Given the description of an element on the screen output the (x, y) to click on. 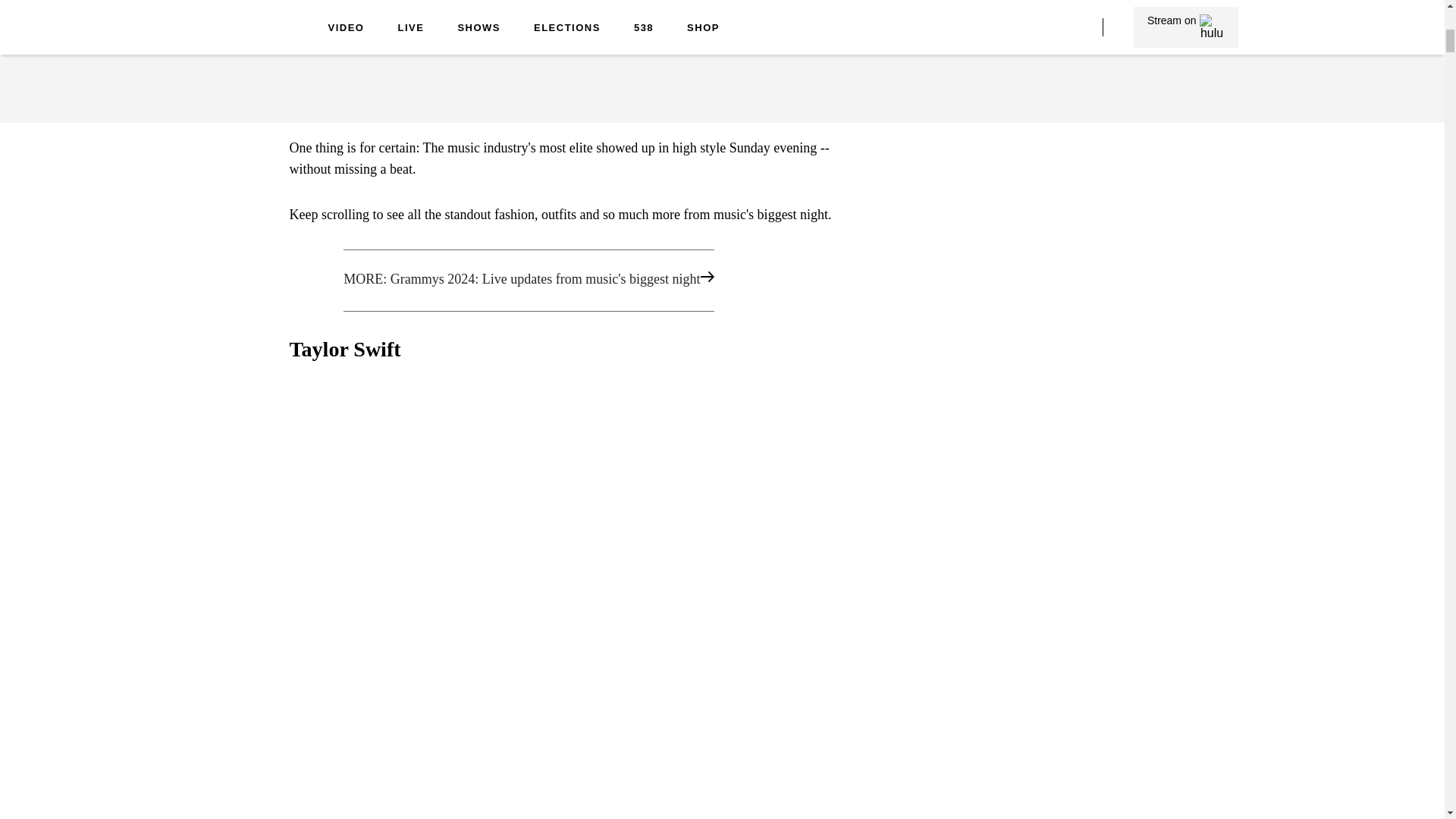
Taylor Swift (323, 59)
MORE: Grammys 2024: Live updates from music's biggest night (560, 280)
